Given the description of an element on the screen output the (x, y) to click on. 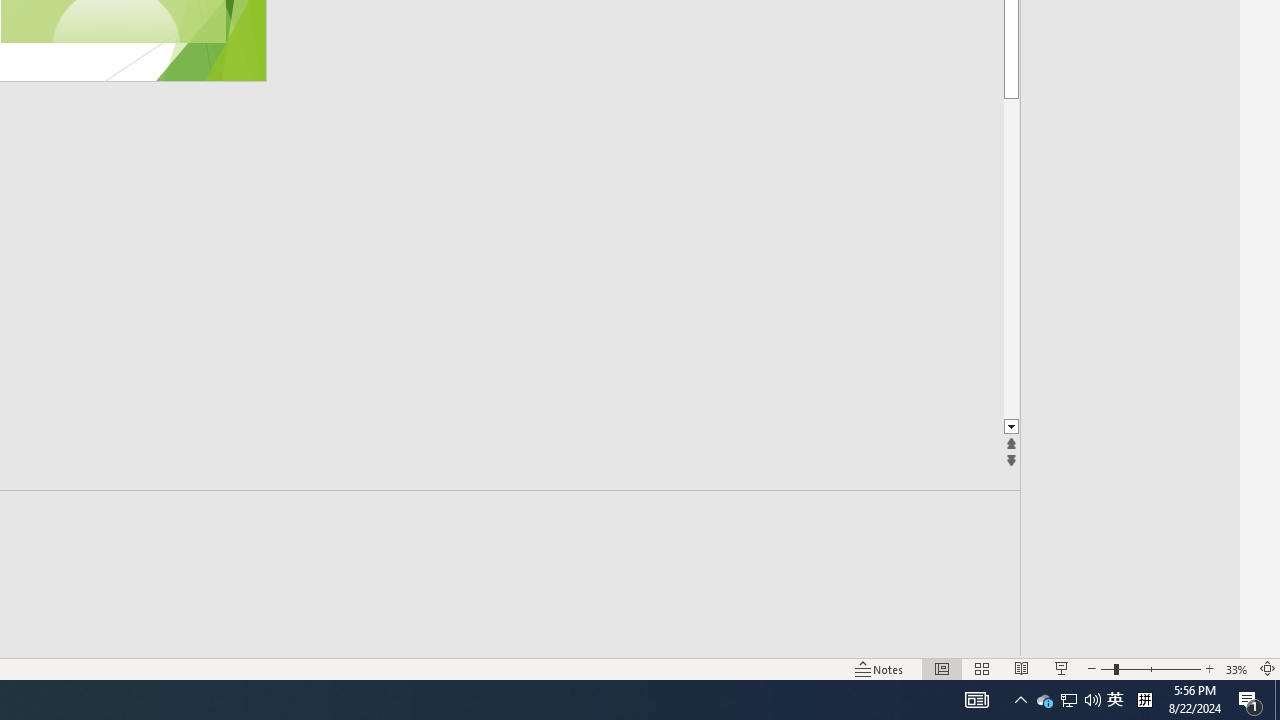
Zoom (1150, 668)
Zoom to Fit  (1267, 668)
Reading View (1021, 668)
Zoom Out (1106, 668)
Zoom 33% (1236, 668)
Zoom In (1209, 668)
Notes  (879, 668)
Line down (1011, 427)
Page down (1011, 258)
Normal (941, 668)
Slide Sorter (982, 668)
